Given the description of an element on the screen output the (x, y) to click on. 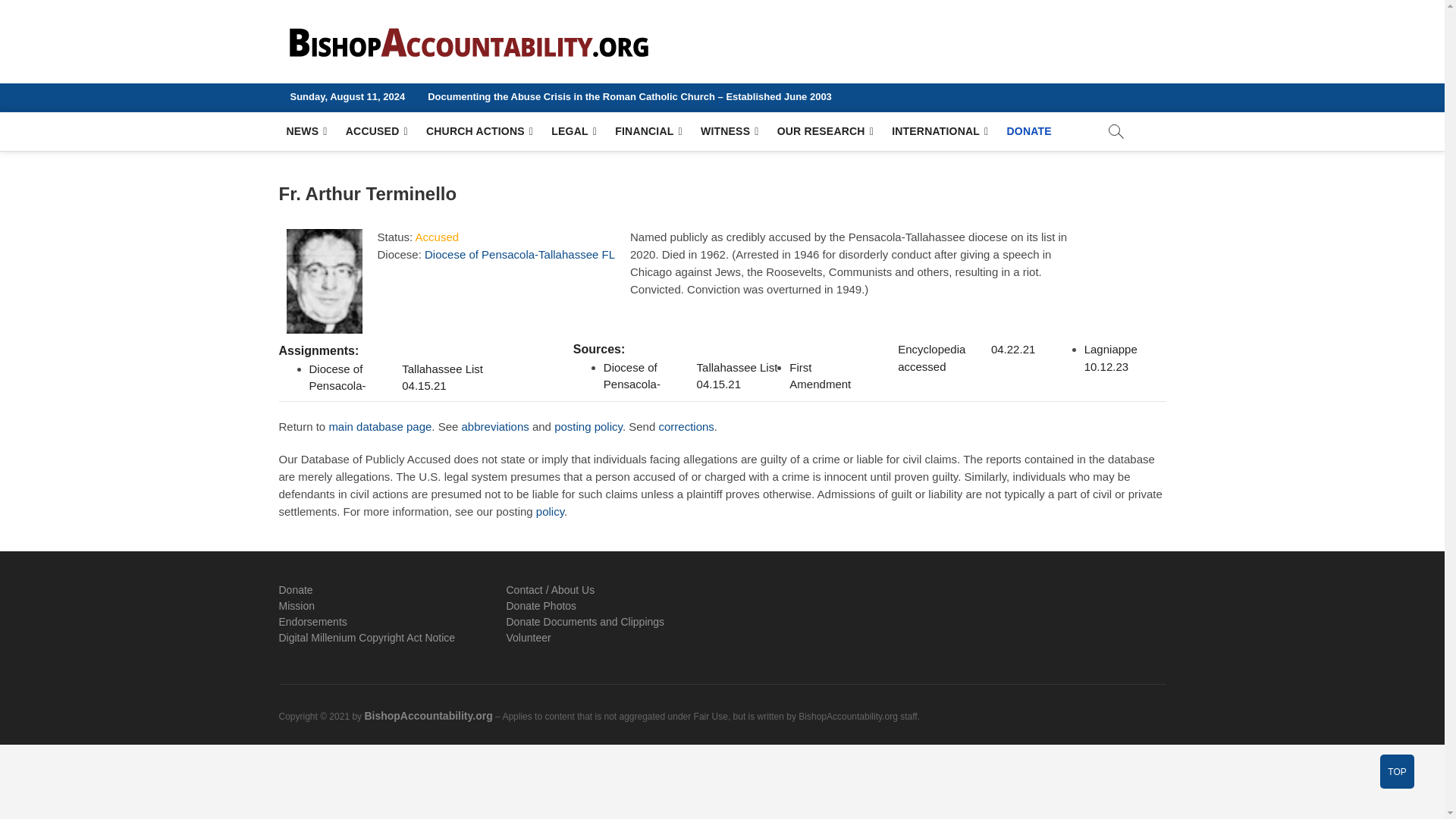
FINANCIAL (648, 131)
ACCUSED (375, 131)
CHURCH ACTIONS (479, 131)
OUR RESEARCH (825, 131)
BishopAccountability.org (800, 50)
BishopAccountability.org (800, 50)
NEWS (306, 131)
WITNESS (730, 131)
LEGAL (573, 131)
